Given the description of an element on the screen output the (x, y) to click on. 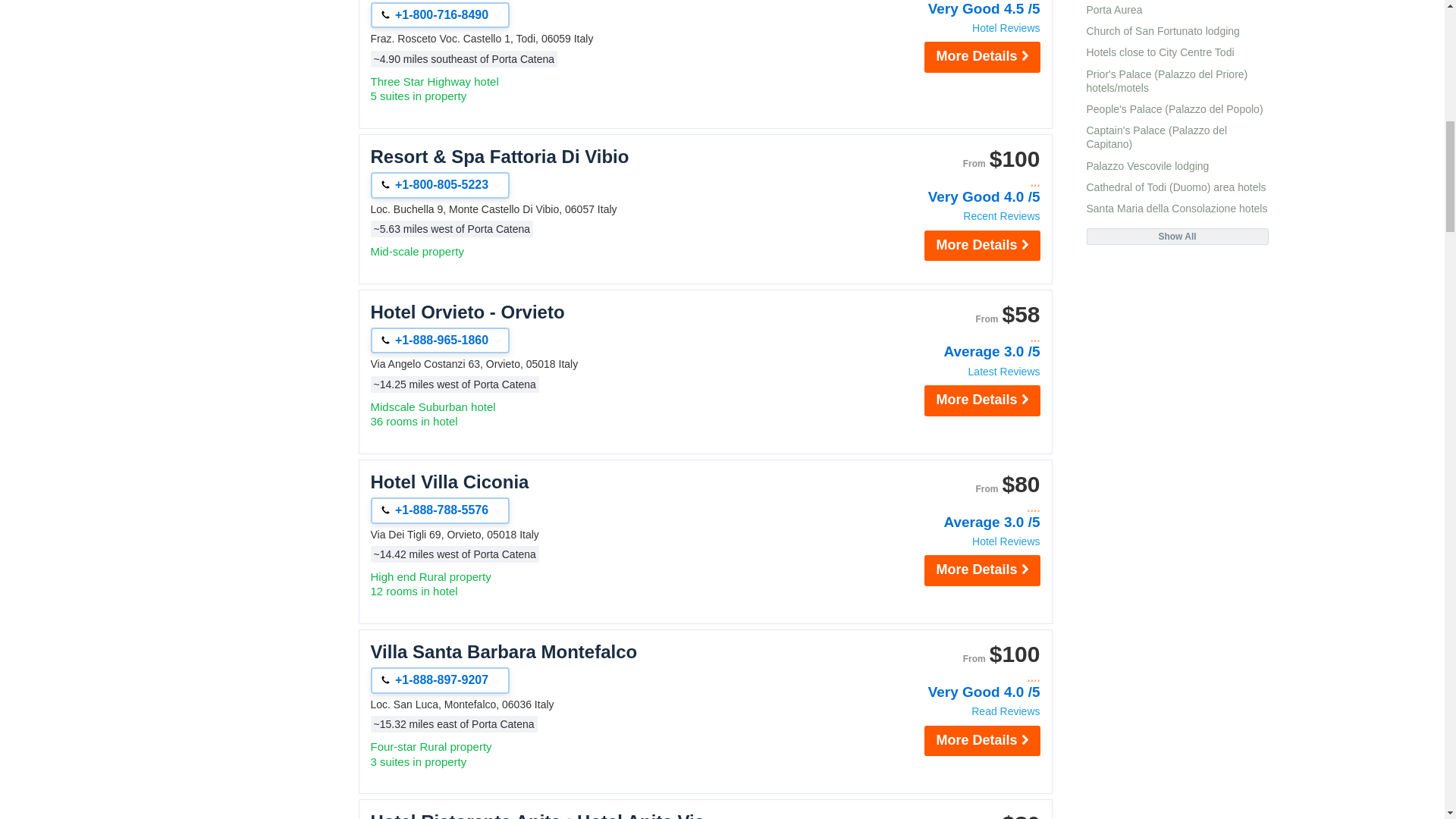
4 stars (958, 506)
3 stars (958, 181)
4 stars (958, 676)
3 stars (958, 336)
